Given the description of an element on the screen output the (x, y) to click on. 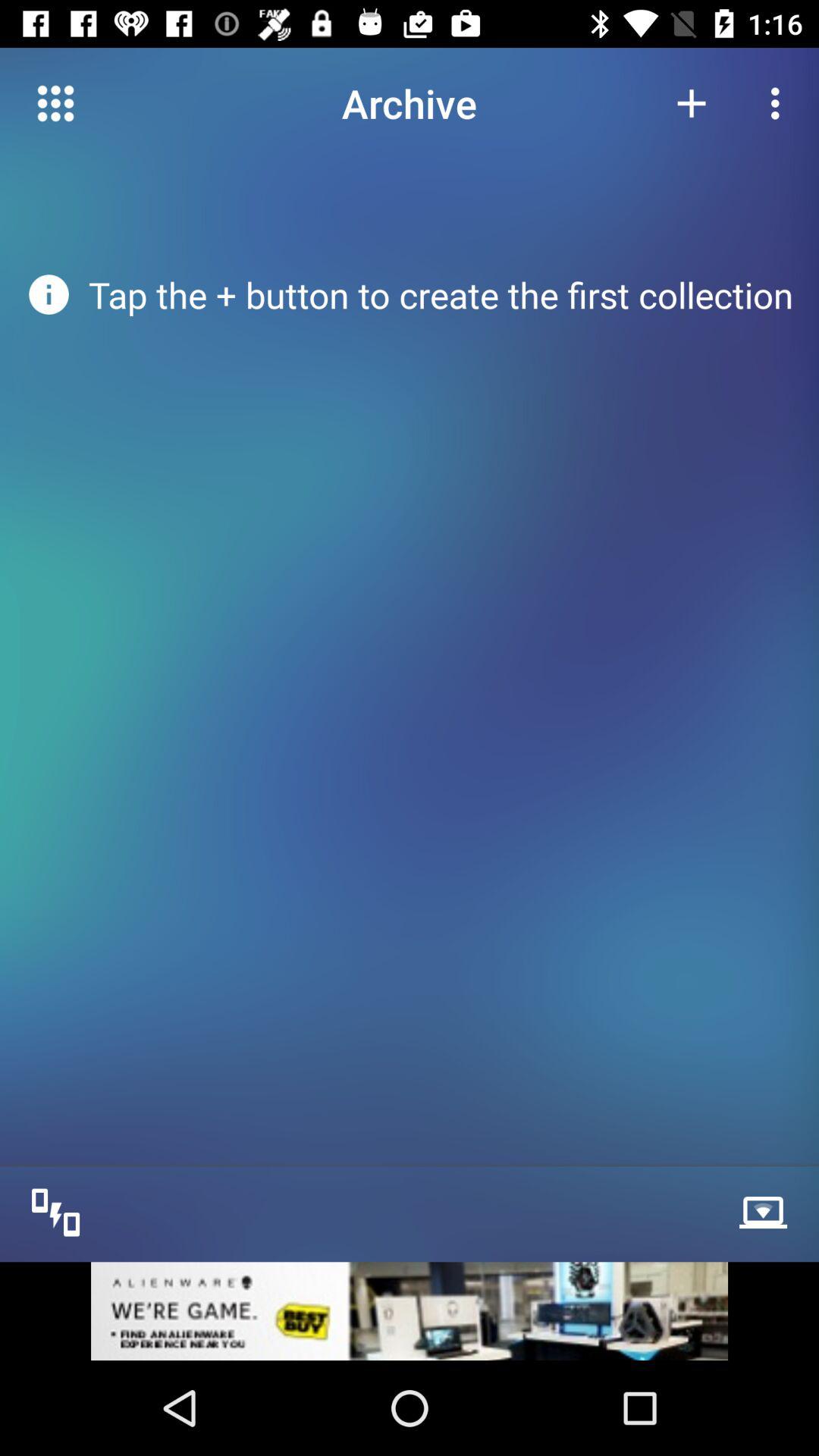
know about the advertisement (409, 1310)
